Given the description of an element on the screen output the (x, y) to click on. 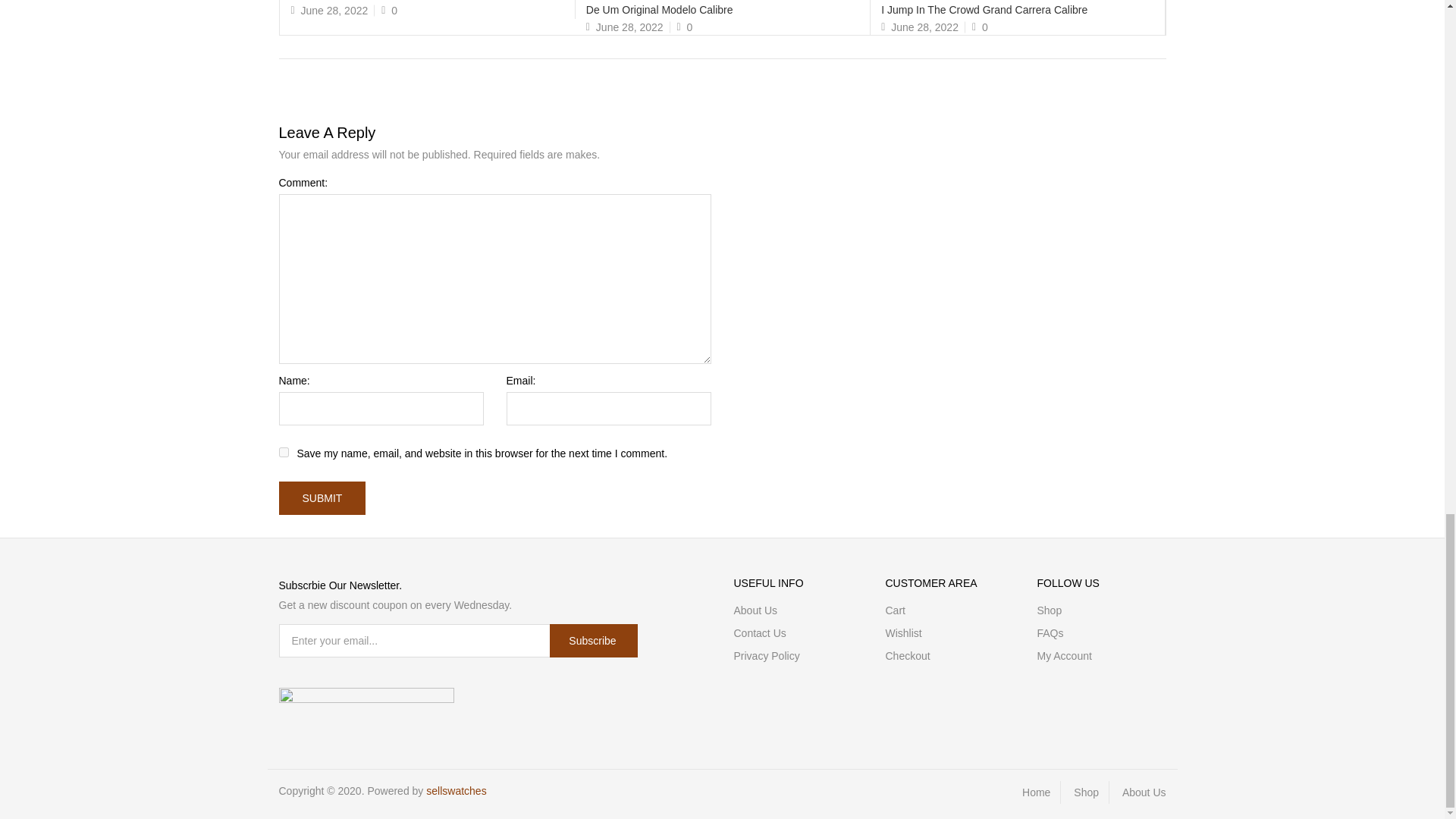
subscribe (593, 640)
submit (322, 498)
payments (366, 696)
yes (283, 452)
